Given the description of an element on the screen output the (x, y) to click on. 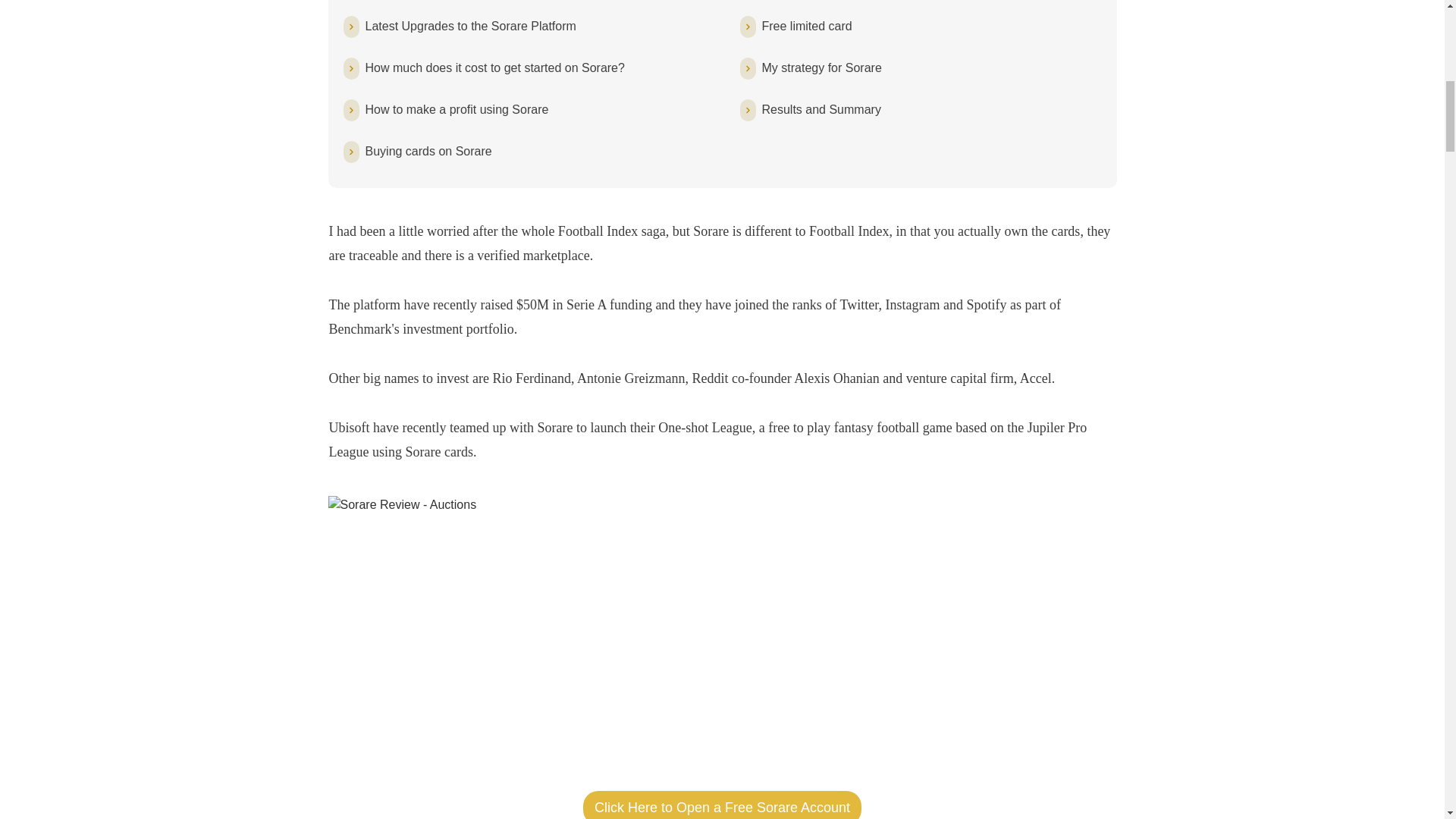
How to make a profit using Sorare (456, 109)
Buying cards on Sorare (428, 151)
Results and Summary (820, 109)
Free limited card (806, 26)
Click Here to Open a Free Sorare Account (722, 805)
How to make a profit using Sorare (456, 109)
Latest Upgrades to the Sorare Platform (470, 26)
My strategy for Sorare (820, 67)
Latest Upgrades to the Sorare Platform (470, 26)
My strategy for Sorare (820, 67)
Results and Summary (820, 109)
Free limited card (806, 26)
How much does it cost to get started on Sorare? (494, 67)
Buying cards on Sorare (428, 151)
